Given the description of an element on the screen output the (x, y) to click on. 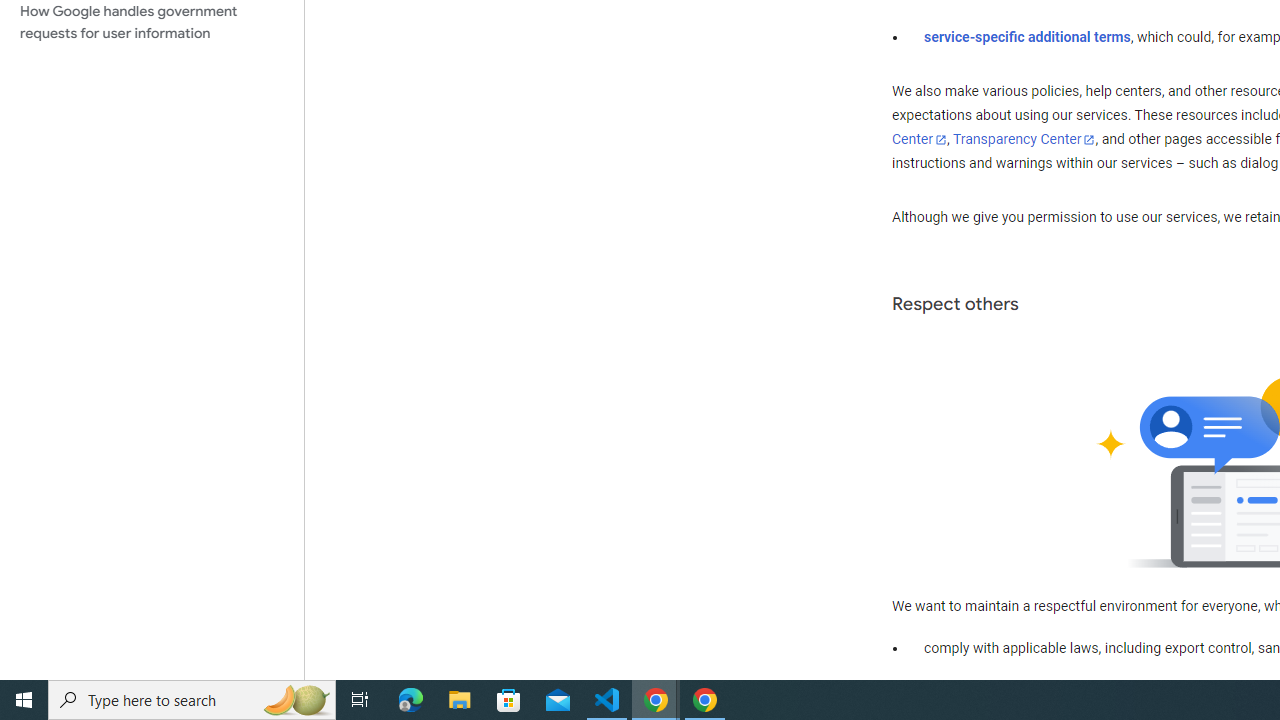
Transparency Center (1023, 140)
service-specific additional terms (1027, 37)
